Given the description of an element on the screen output the (x, y) to click on. 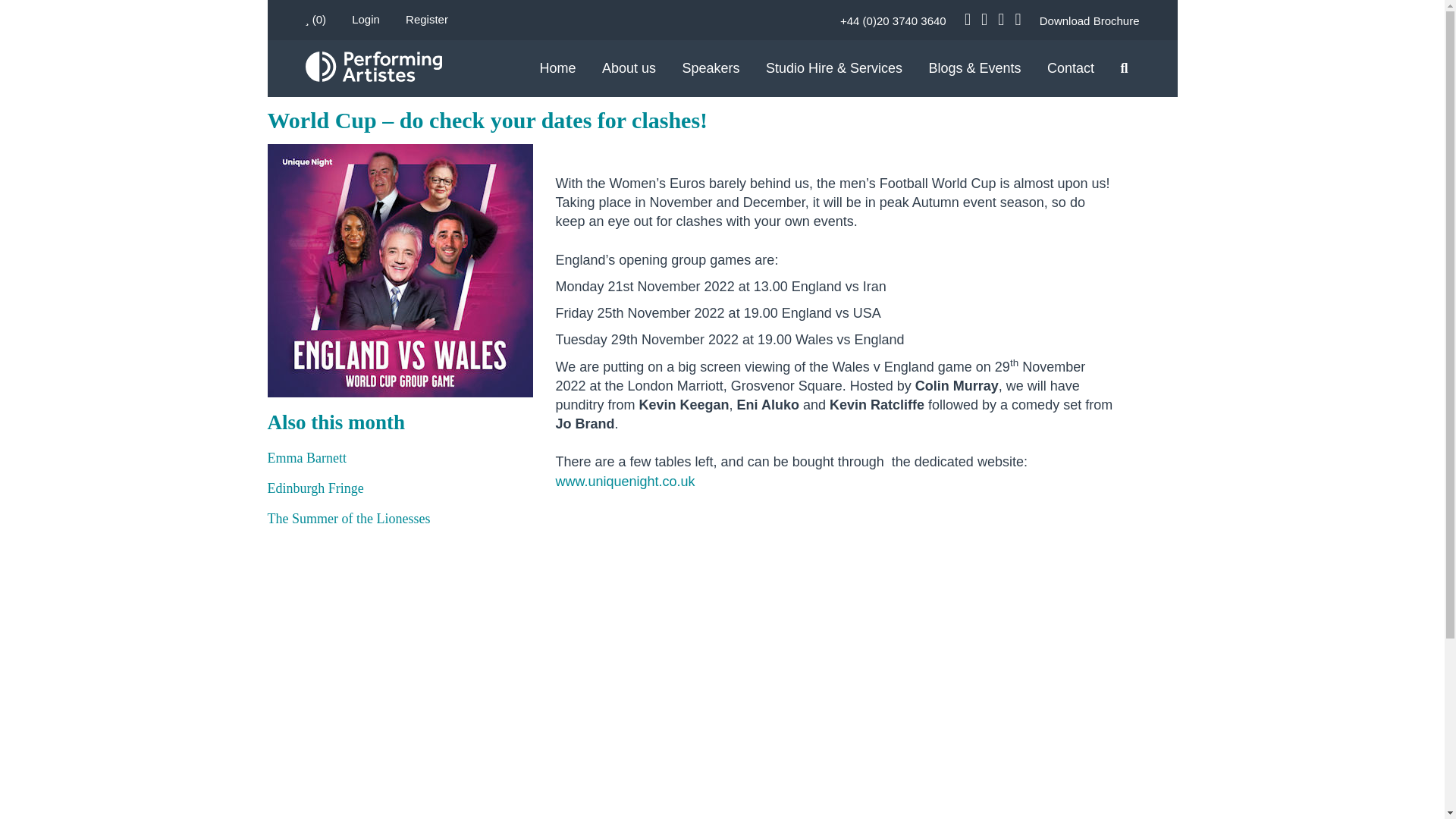
Contact (1070, 79)
Login (366, 19)
Speakers (710, 79)
The Summer of the Lionesses (347, 518)
Edinburgh Fringe (314, 488)
Download Brochure (1089, 20)
Register (427, 19)
Emma Barnett (306, 458)
About us (629, 79)
Home (556, 68)
